Given the description of an element on the screen output the (x, y) to click on. 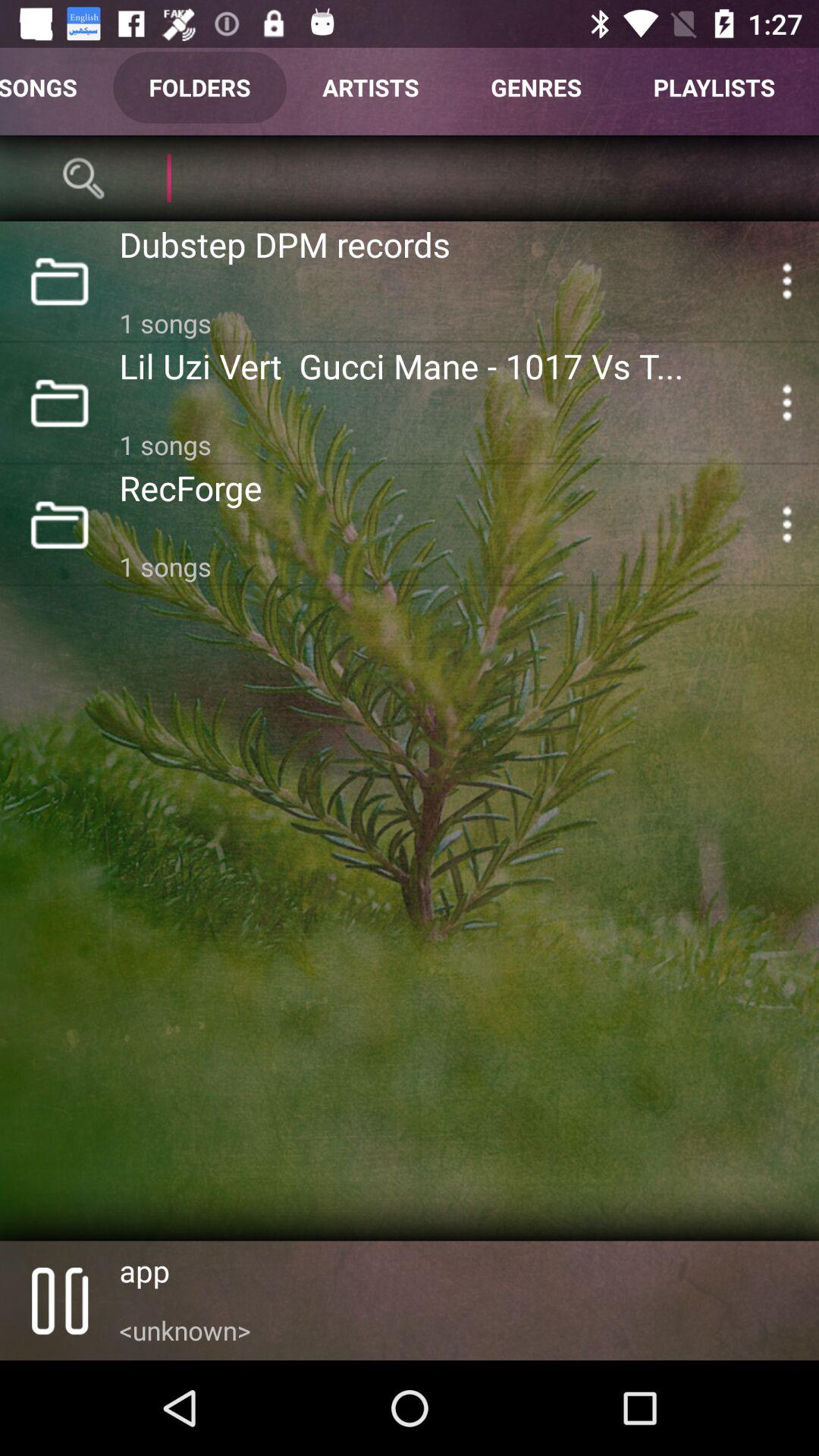
select the button left to genres in the top menu bar (370, 87)
